Given the description of an element on the screen output the (x, y) to click on. 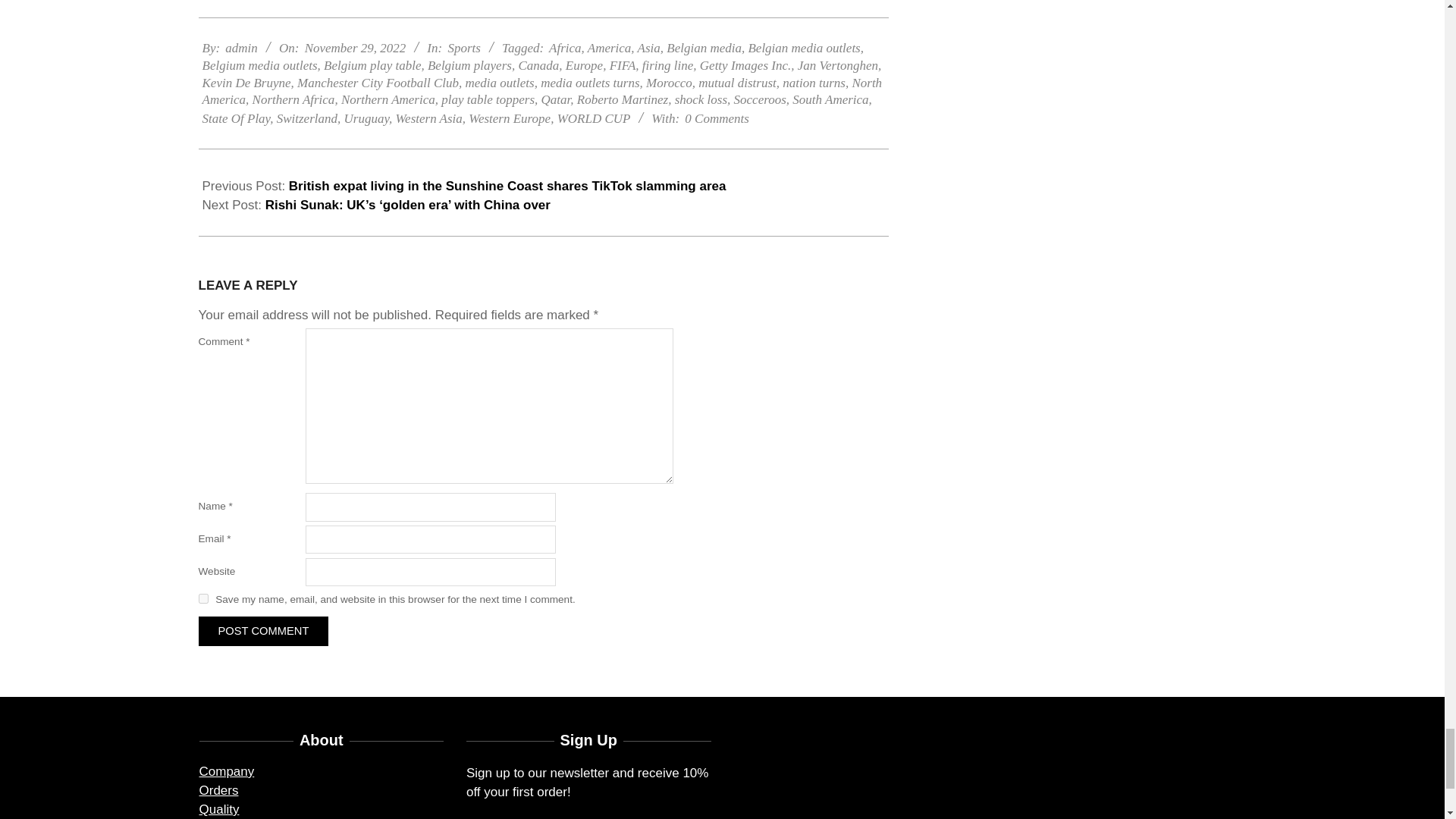
yes (203, 598)
Jan Vertonghen (837, 65)
Belgium players (470, 65)
Kevin De Bruyne (245, 83)
Sports (463, 47)
Post Comment (263, 630)
admin (241, 47)
media outlets (499, 83)
Europe (584, 65)
Posts by admin (241, 47)
FIFA (623, 65)
Belgian media outlets (804, 47)
Manchester City Football Club (377, 83)
Canada (538, 65)
Belgian media (703, 47)
